Given the description of an element on the screen output the (x, y) to click on. 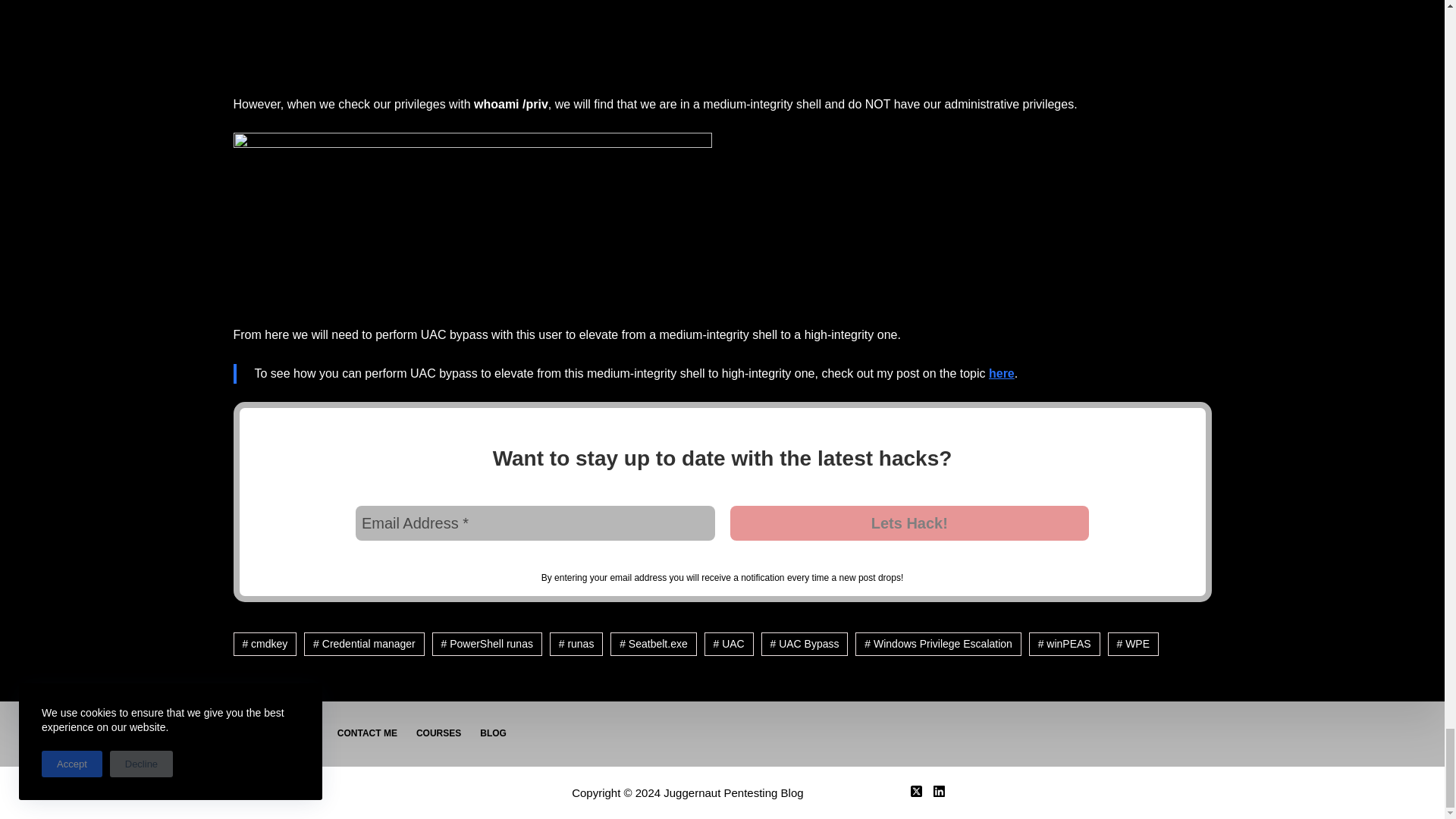
Lets Hack! (909, 523)
